Given the description of an element on the screen output the (x, y) to click on. 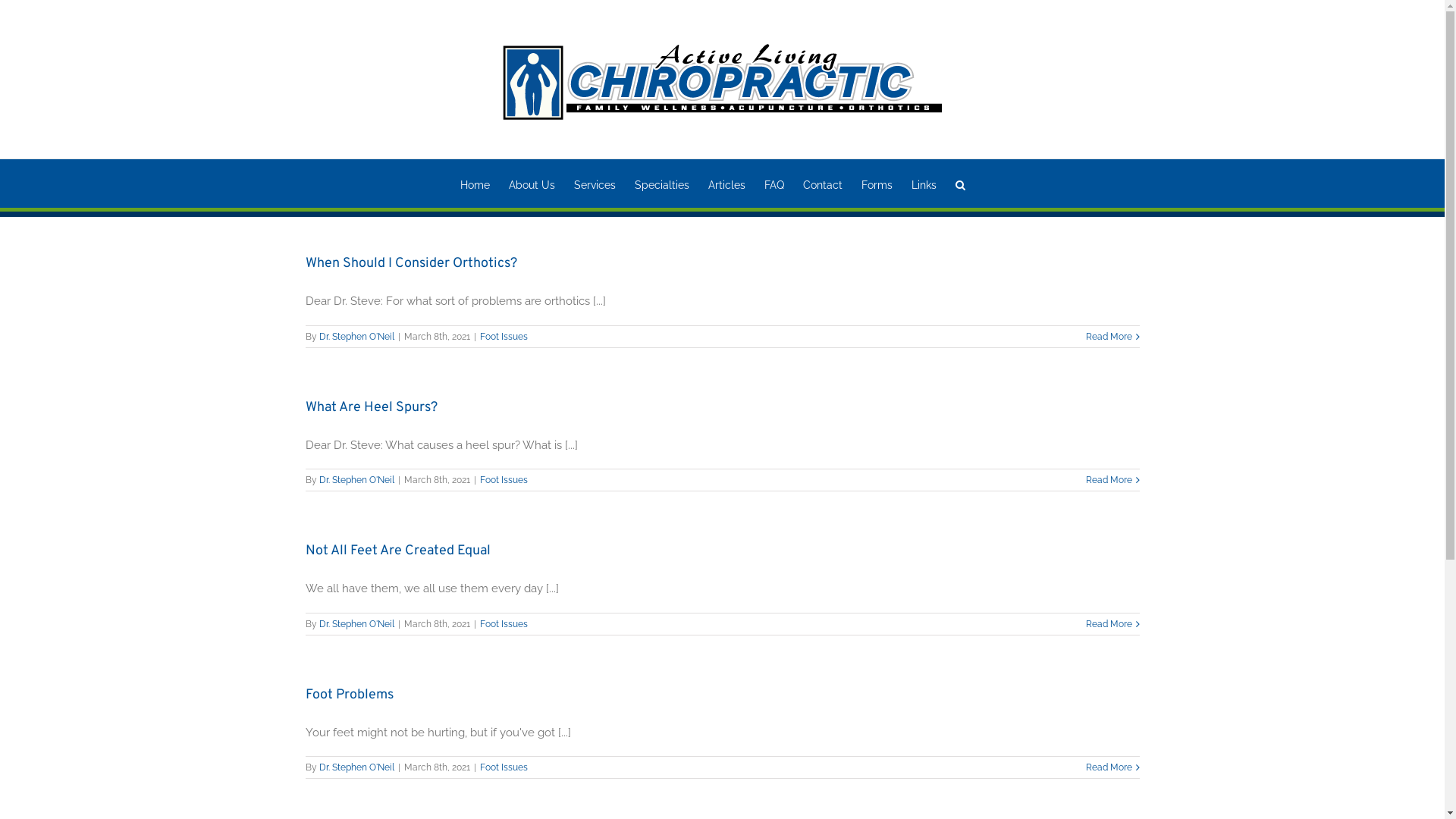
Foot Issues Element type: text (503, 479)
FAQ Element type: text (774, 183)
When Should I Consider Orthotics? Element type: text (410, 263)
Dr. Stephen O'Neil Element type: text (355, 767)
Not All Feet Are Created Equal Element type: text (396, 550)
Foot Problems Element type: text (348, 693)
Read More Element type: text (1108, 479)
Foot Issues Element type: text (503, 335)
Read More Element type: text (1108, 623)
Dr. Stephen O'Neil Element type: text (355, 335)
Dr. Stephen O'Neil Element type: text (355, 623)
Dr. Stephen O'Neil Element type: text (355, 479)
Contact Element type: text (822, 183)
Foot Issues Element type: text (503, 623)
Search Element type: hover (960, 183)
Foot Issues Element type: text (503, 767)
Forms Element type: text (876, 183)
Read More Element type: text (1108, 335)
Services Element type: text (594, 183)
Specialties Element type: text (661, 183)
Articles Element type: text (726, 183)
Home Element type: text (474, 183)
Read More Element type: text (1108, 767)
About Us Element type: text (531, 183)
Links Element type: text (923, 183)
What Are Heel Spurs? Element type: text (370, 407)
